Given the description of an element on the screen output the (x, y) to click on. 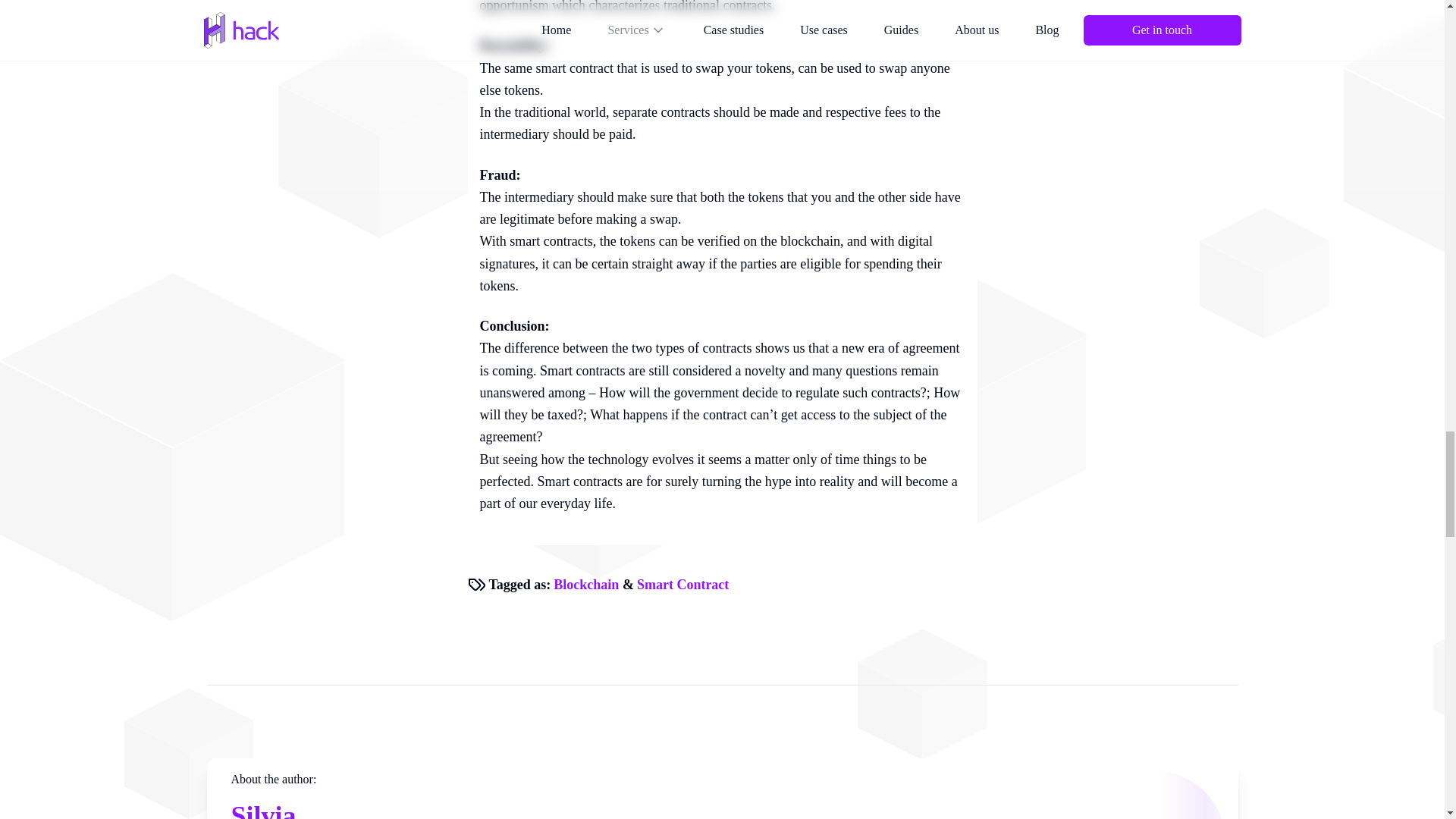
Blockchain (585, 584)
Smart Contract (683, 584)
